Given the description of an element on the screen output the (x, y) to click on. 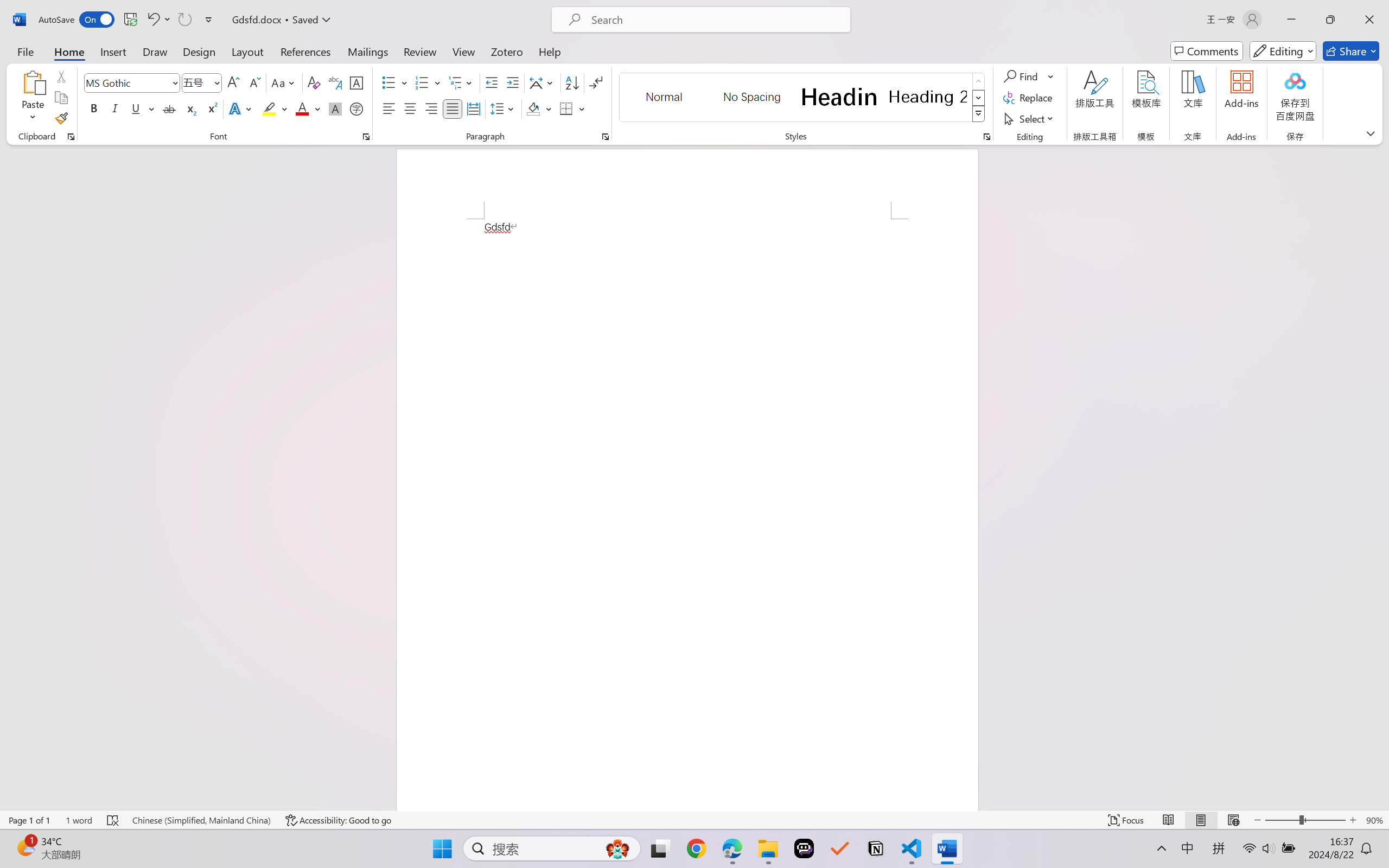
Shading RGB(0, 0, 0) (533, 108)
Microsoft search (715, 19)
Font Color (308, 108)
